Given the description of an element on the screen output the (x, y) to click on. 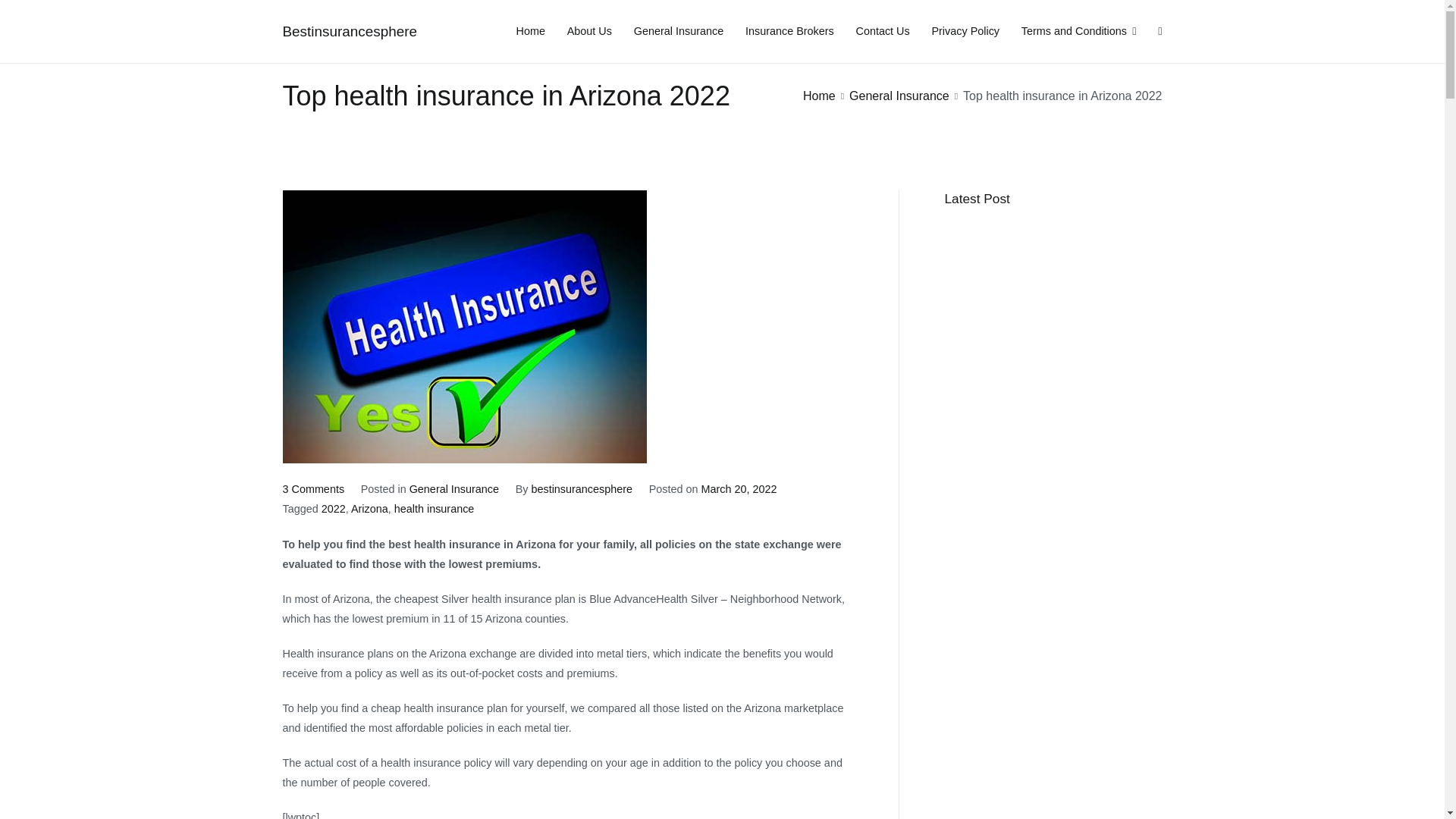
Privacy Policy (964, 31)
health insurance (434, 508)
Terms and Conditions (1079, 31)
About Us (589, 31)
Home (530, 31)
Home (819, 95)
Bestinsurancesphere (349, 31)
March 20, 2022 (738, 489)
Insurance Brokers (312, 489)
